Given the description of an element on the screen output the (x, y) to click on. 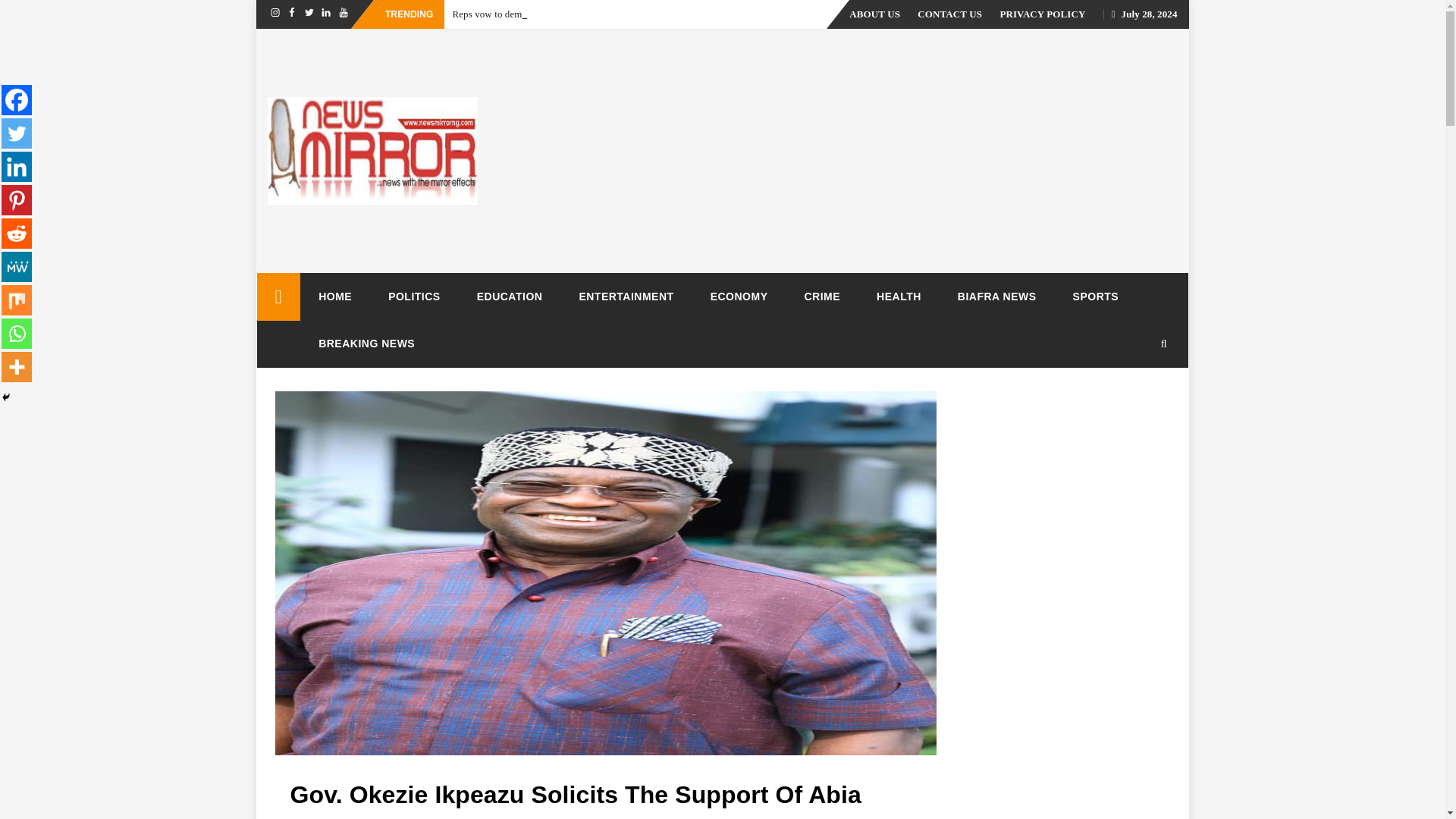
SPORTS (1095, 296)
ABOUT US (873, 13)
CONTACT US (949, 13)
EDUCATION (509, 296)
CRIME (822, 296)
HOME (334, 296)
ENTERTAINMENT (625, 296)
PRIVACY POLICY (1041, 13)
Twitter (309, 17)
News Mirror (277, 296)
Facebook (291, 17)
Instagram (274, 17)
